Given the description of an element on the screen output the (x, y) to click on. 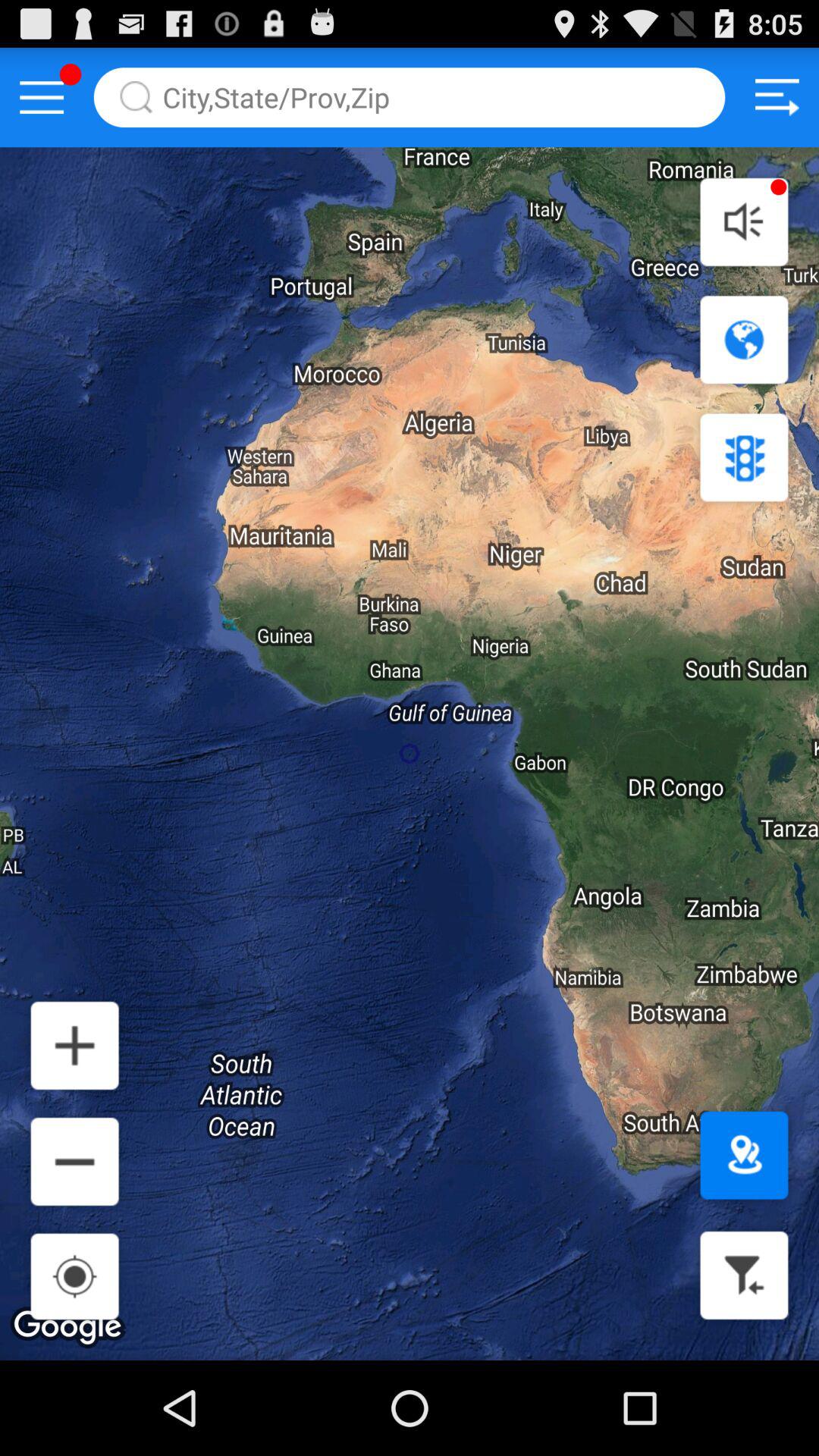
show menu (41, 97)
